Given the description of an element on the screen output the (x, y) to click on. 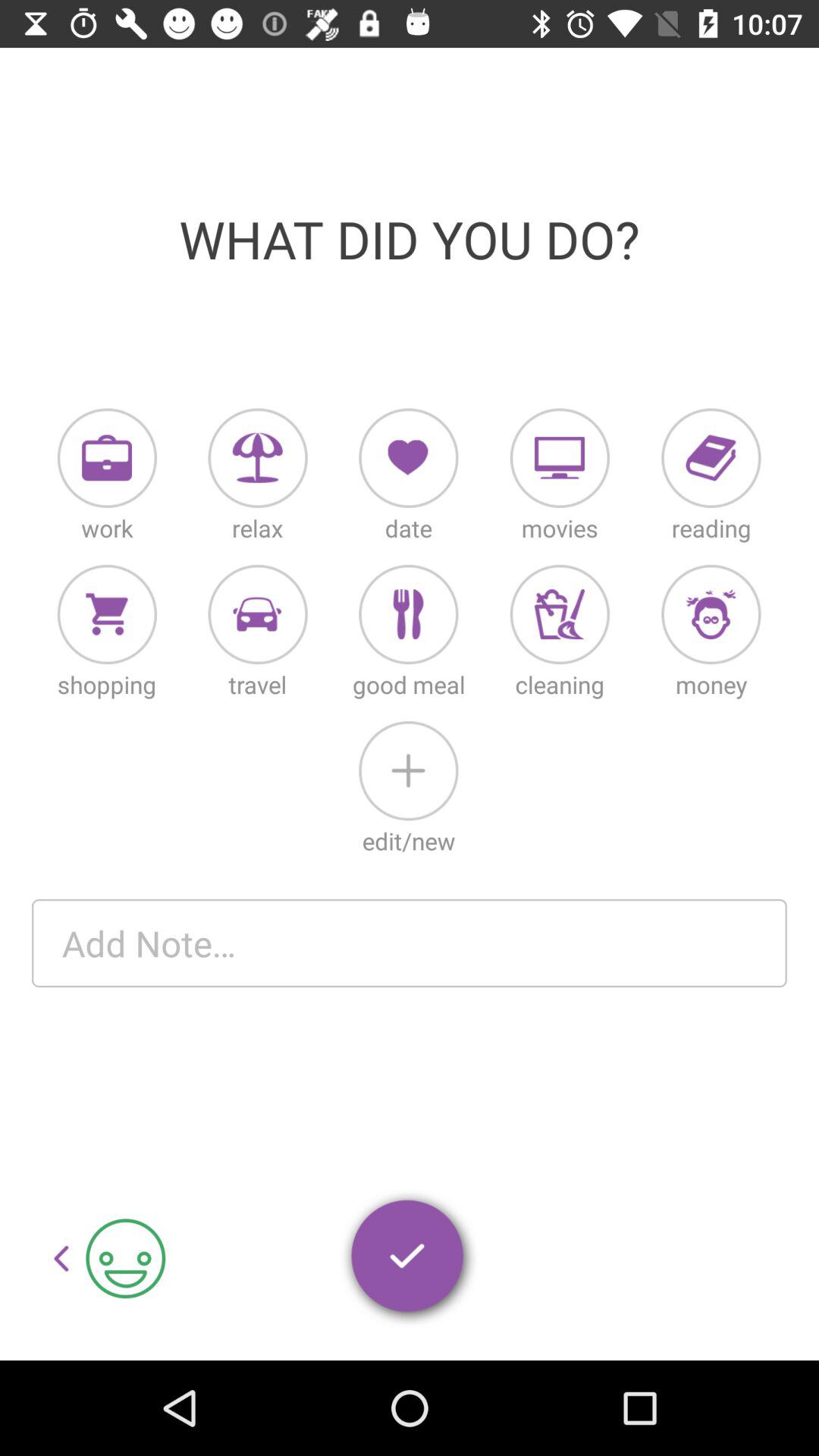
relax button (257, 457)
